Given the description of an element on the screen output the (x, y) to click on. 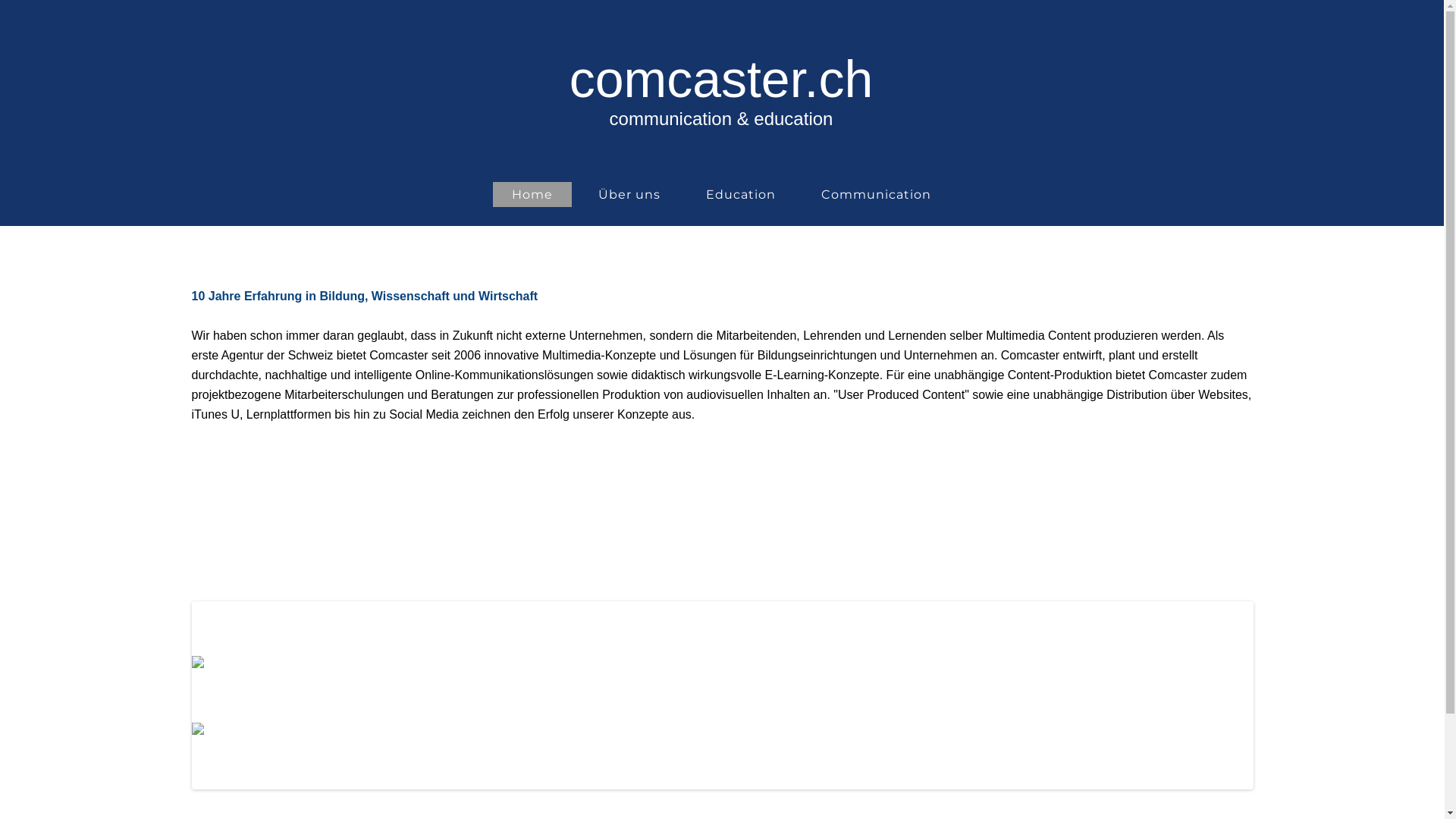
comcaster.ch Element type: text (721, 78)
Education Element type: text (740, 194)
Communication Element type: text (876, 194)
Home Element type: text (531, 194)
